Given the description of an element on the screen output the (x, y) to click on. 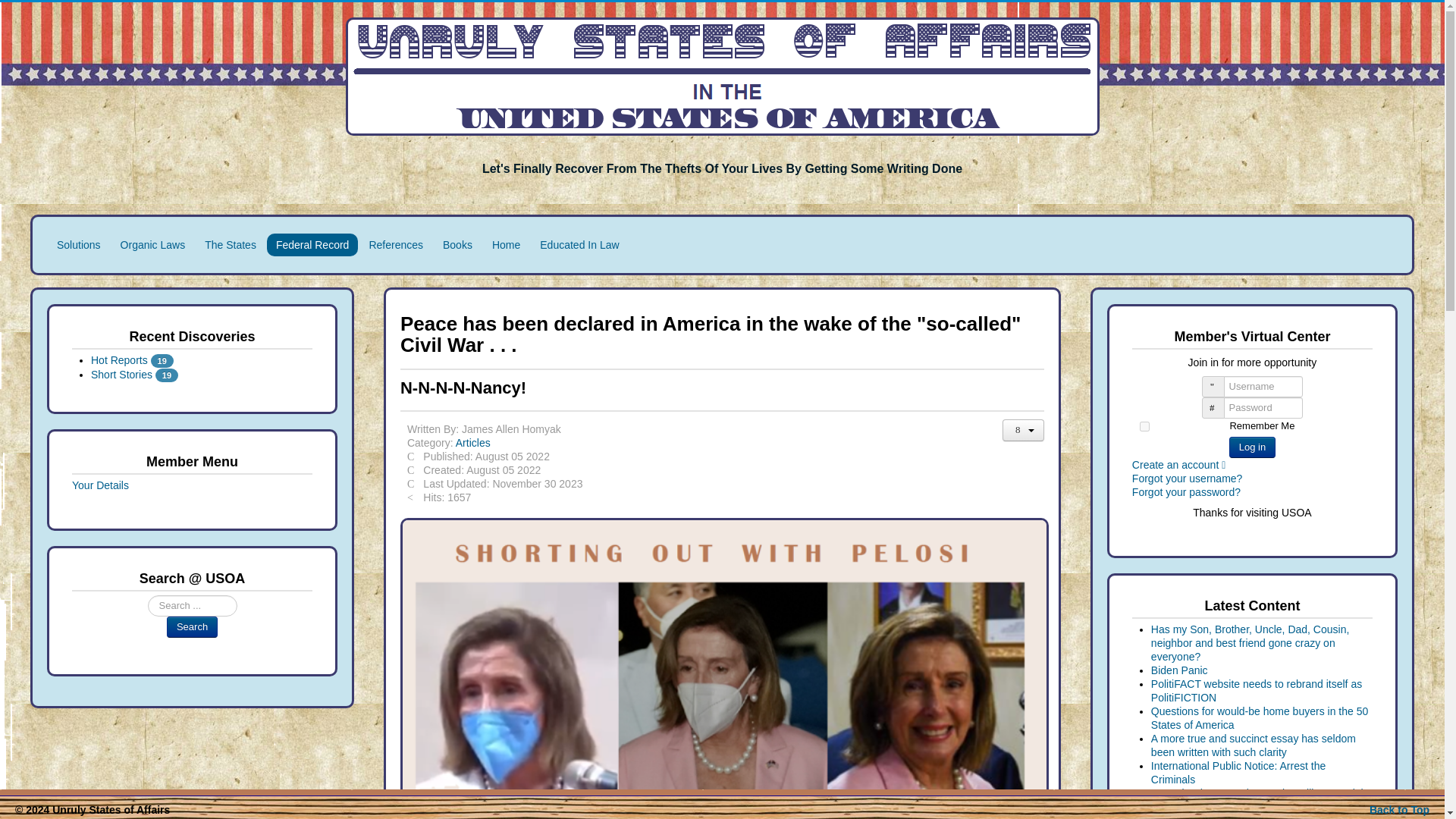
Organic Laws (153, 244)
International Public Notice: Arrest the Criminals (1237, 772)
Solutions (79, 244)
Create an account (1183, 464)
Federal Record (312, 244)
Home (506, 244)
Books (457, 244)
The States (229, 244)
Search (191, 627)
Biden Panic (1179, 670)
Forgot your username? (1187, 478)
